Given the description of an element on the screen output the (x, y) to click on. 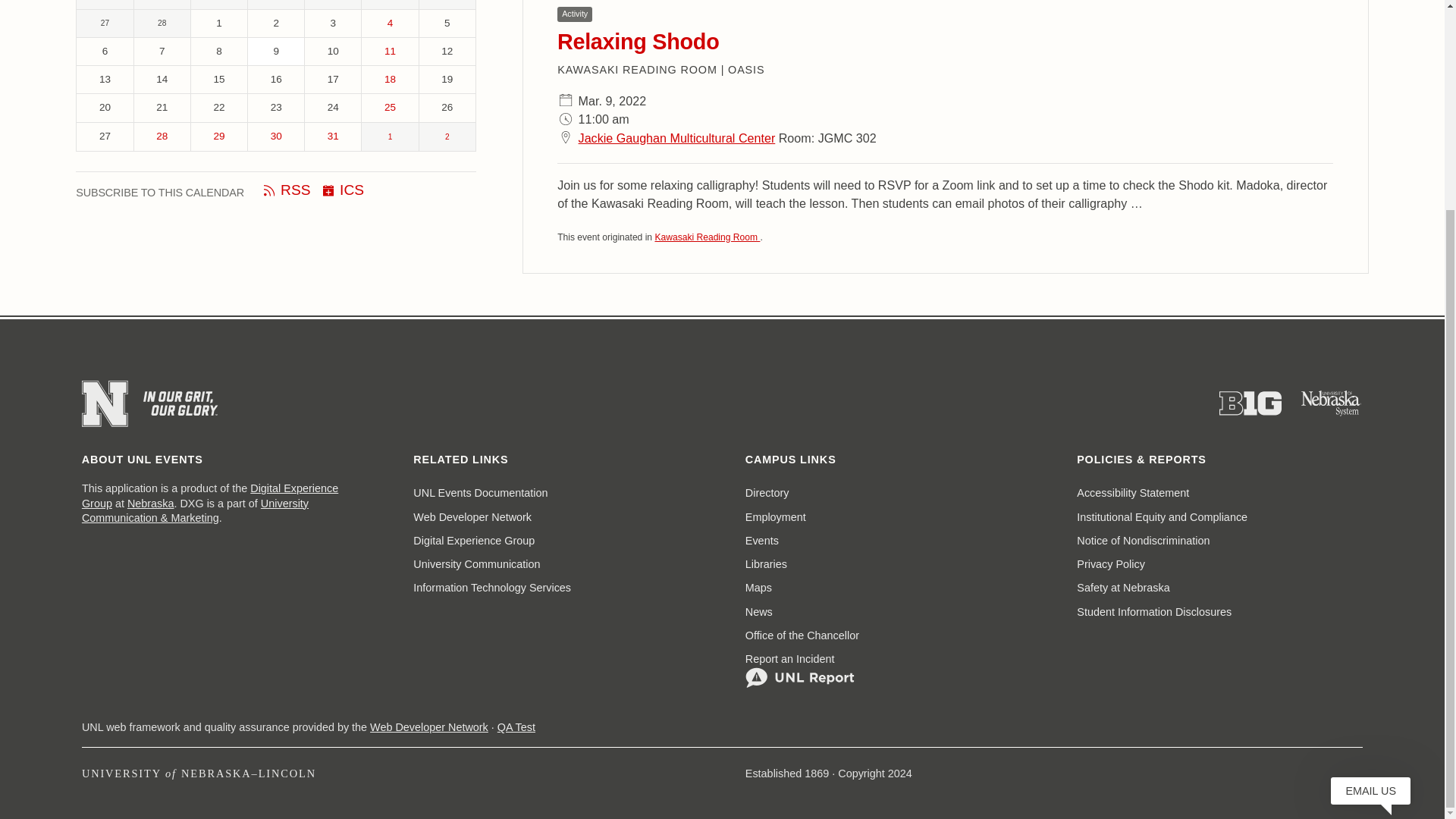
Wednesday (275, 4)
18 (389, 79)
9 (275, 51)
29 (218, 135)
Friday (390, 4)
11 (389, 51)
Sunday (105, 4)
31 (332, 135)
30 (275, 135)
Monday (161, 4)
25 (389, 107)
4 (389, 22)
28 (161, 135)
Thursday (332, 4)
Saturday (447, 4)
